Given the description of an element on the screen output the (x, y) to click on. 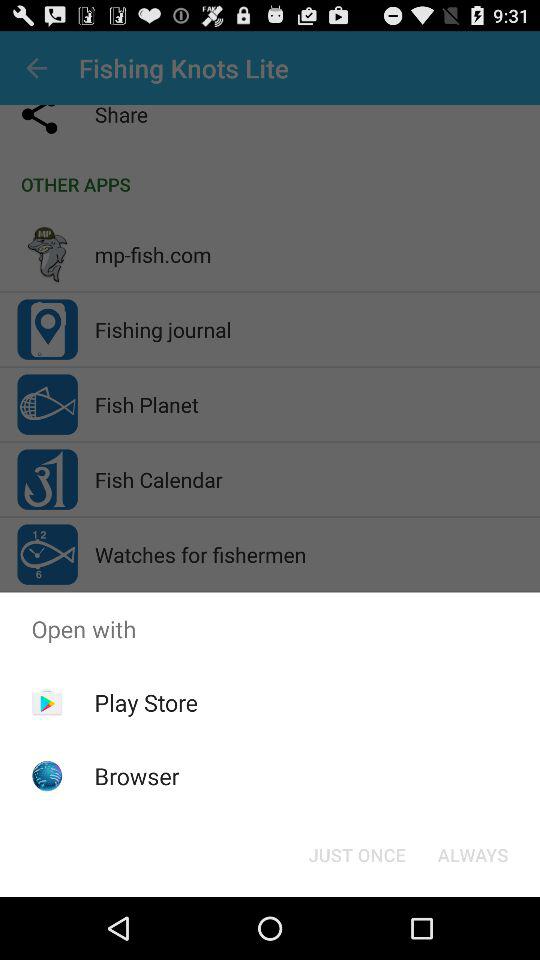
select button next to the just once button (472, 854)
